Given the description of an element on the screen output the (x, y) to click on. 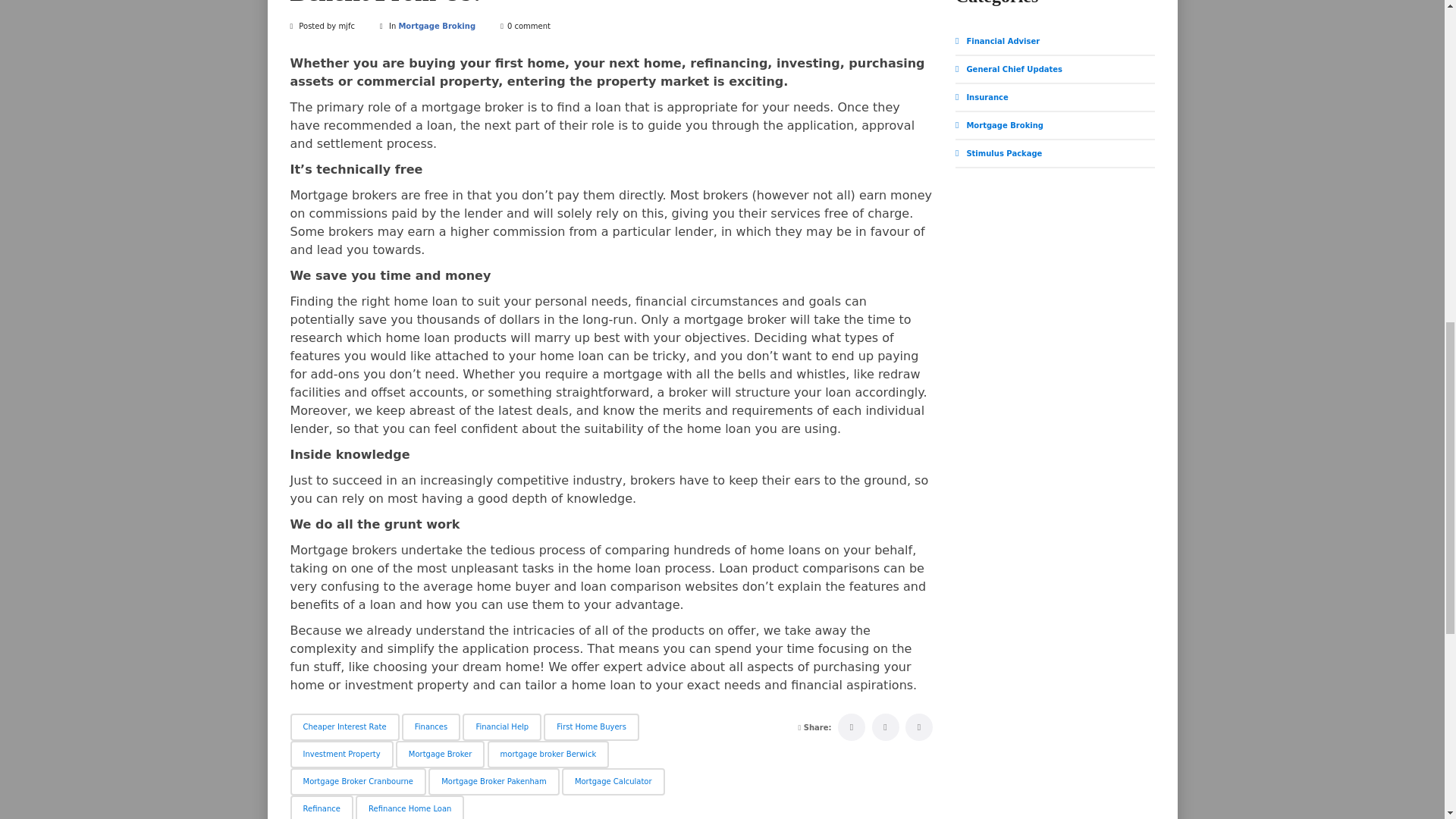
Cheaper Interest Rate (343, 727)
Financial Help (502, 727)
Mortgage Broking (436, 26)
Finances (430, 727)
Mortgage Broker Cranbourne (357, 781)
Mortgage Broker (440, 754)
First Home Buyers (591, 727)
Investment Property (341, 754)
mortgage broker Berwick (548, 754)
Mortgage Calculator (613, 781)
